Given the description of an element on the screen output the (x, y) to click on. 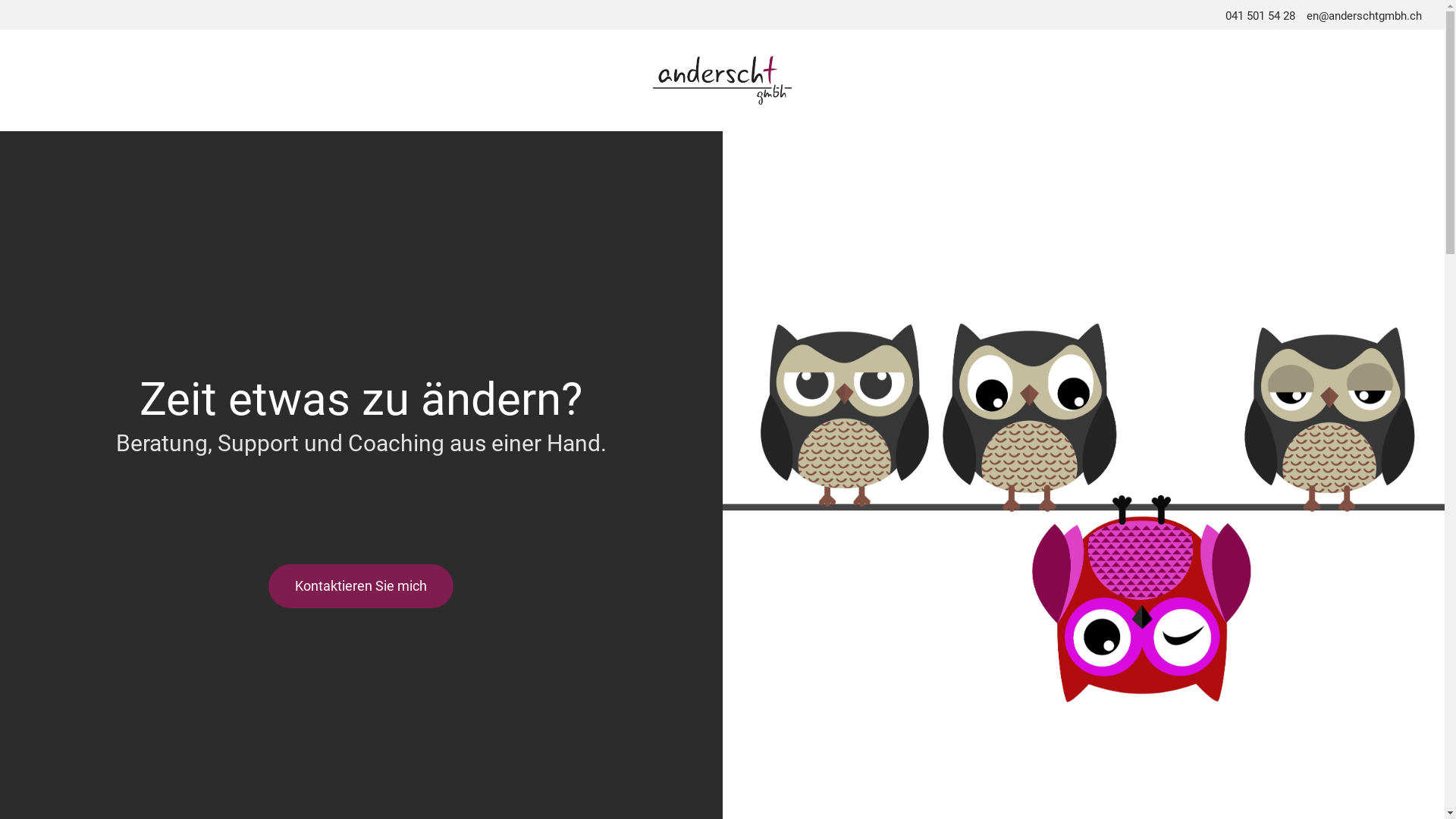
041 501 54 28 Element type: text (1260, 15)
Kontaktieren Sie mich Element type: text (360, 586)
en@anderschtgmbh.ch Element type: text (1363, 15)
